Given the description of an element on the screen output the (x, y) to click on. 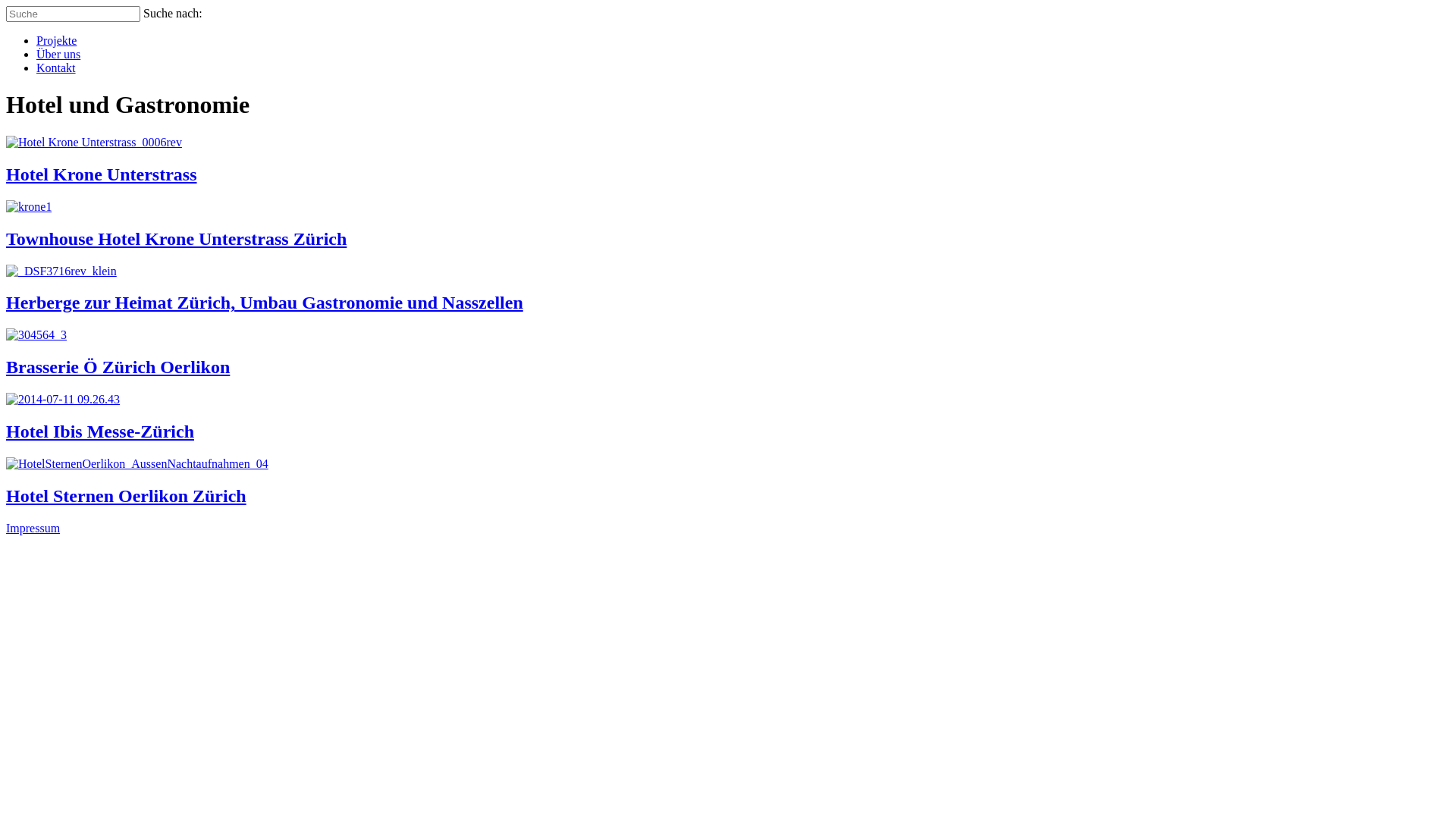
Impressum Element type: text (32, 527)
Projekte Element type: text (56, 40)
Hotel Krone Unterstrass Element type: text (101, 174)
Kontakt Element type: text (55, 67)
